Given the description of an element on the screen output the (x, y) to click on. 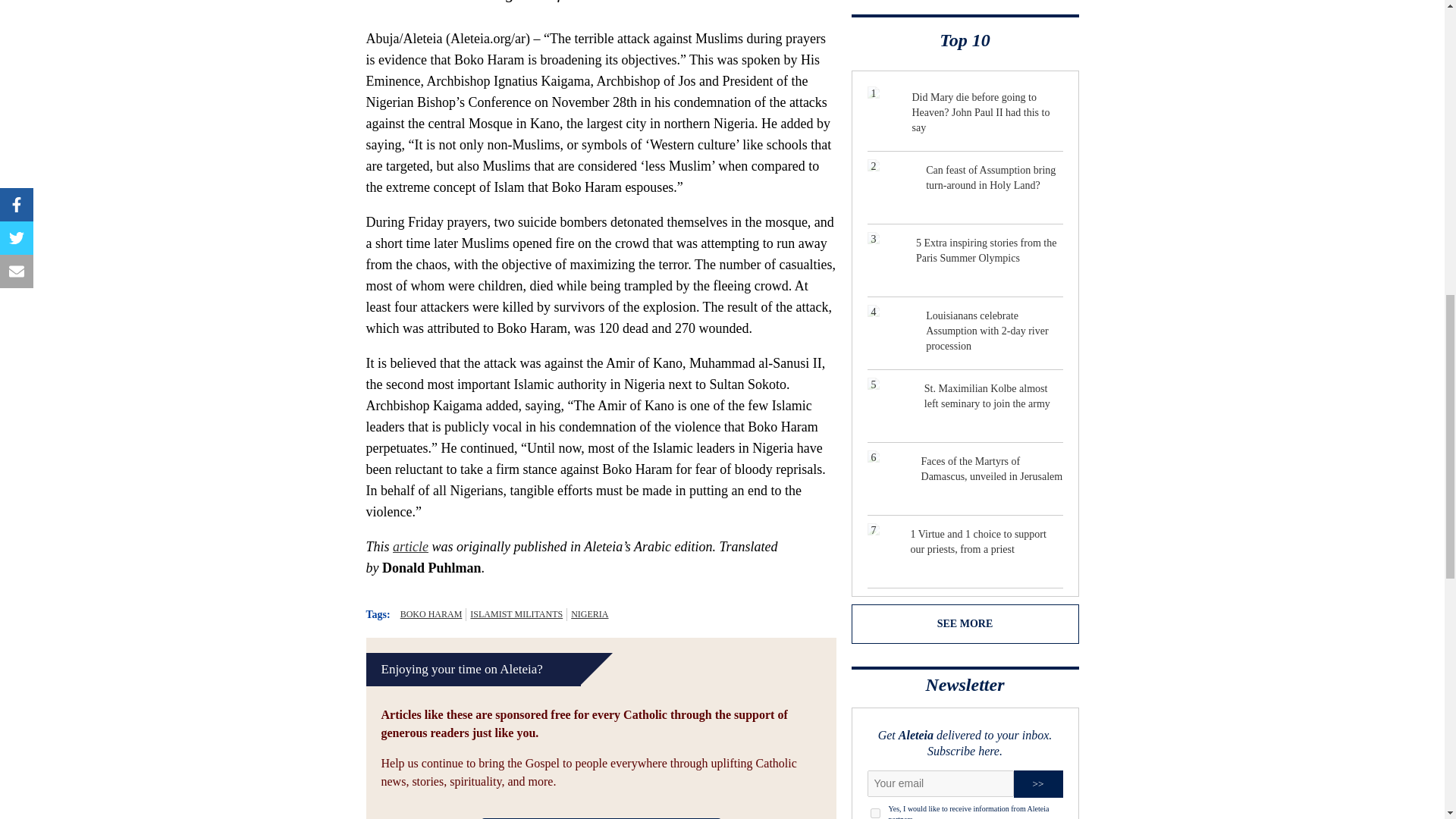
1 (875, 813)
BOKO HARAM (431, 614)
article (410, 546)
